Given the description of an element on the screen output the (x, y) to click on. 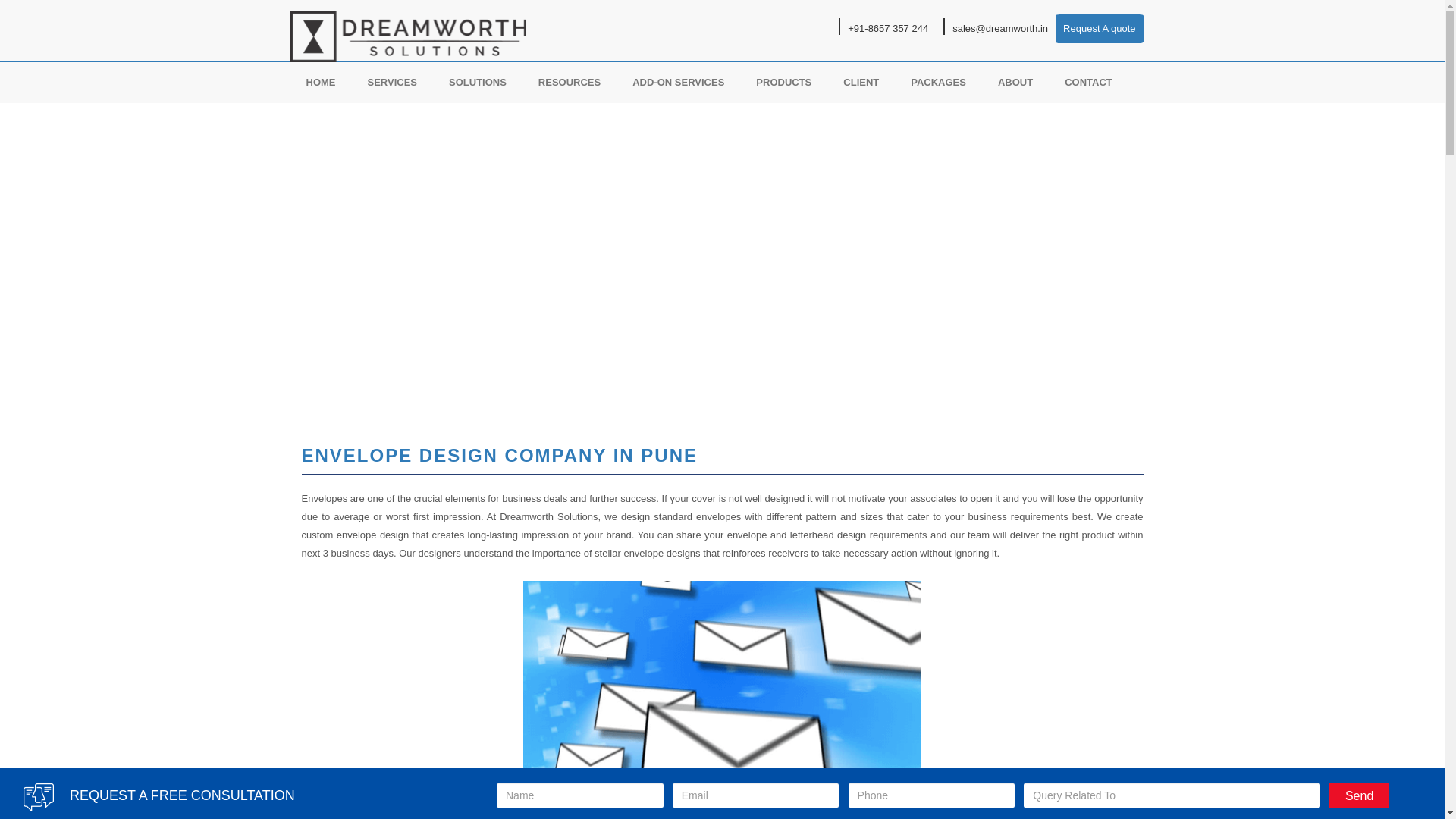
SERVICES (392, 82)
HOME (319, 82)
SOLUTIONS (477, 82)
Request A quote (1098, 28)
